Given the description of an element on the screen output the (x, y) to click on. 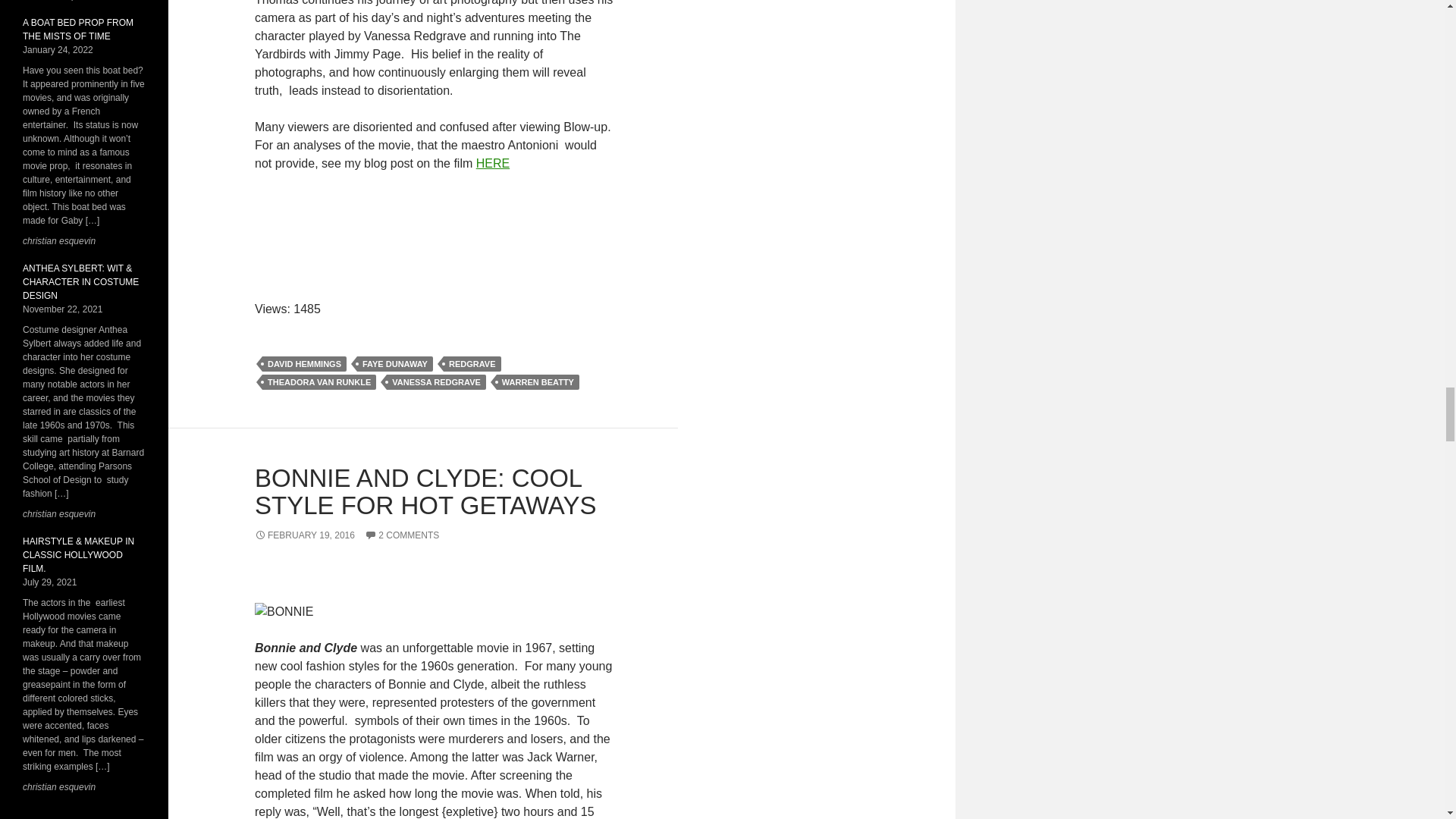
BONNIE AND CLYDE: COOL STYLE FOR HOT GETAWAYS (424, 491)
REDGRAVE (472, 363)
FEBRUARY 19, 2016 (304, 534)
2 COMMENTS (402, 534)
DAVID HEMMINGS (304, 363)
THEADORA VAN RUNKLE (318, 381)
VANESSA REDGRAVE (436, 381)
WARREN BEATTY (537, 381)
HERE (492, 163)
FAYE DUNAWAY (394, 363)
